Given the description of an element on the screen output the (x, y) to click on. 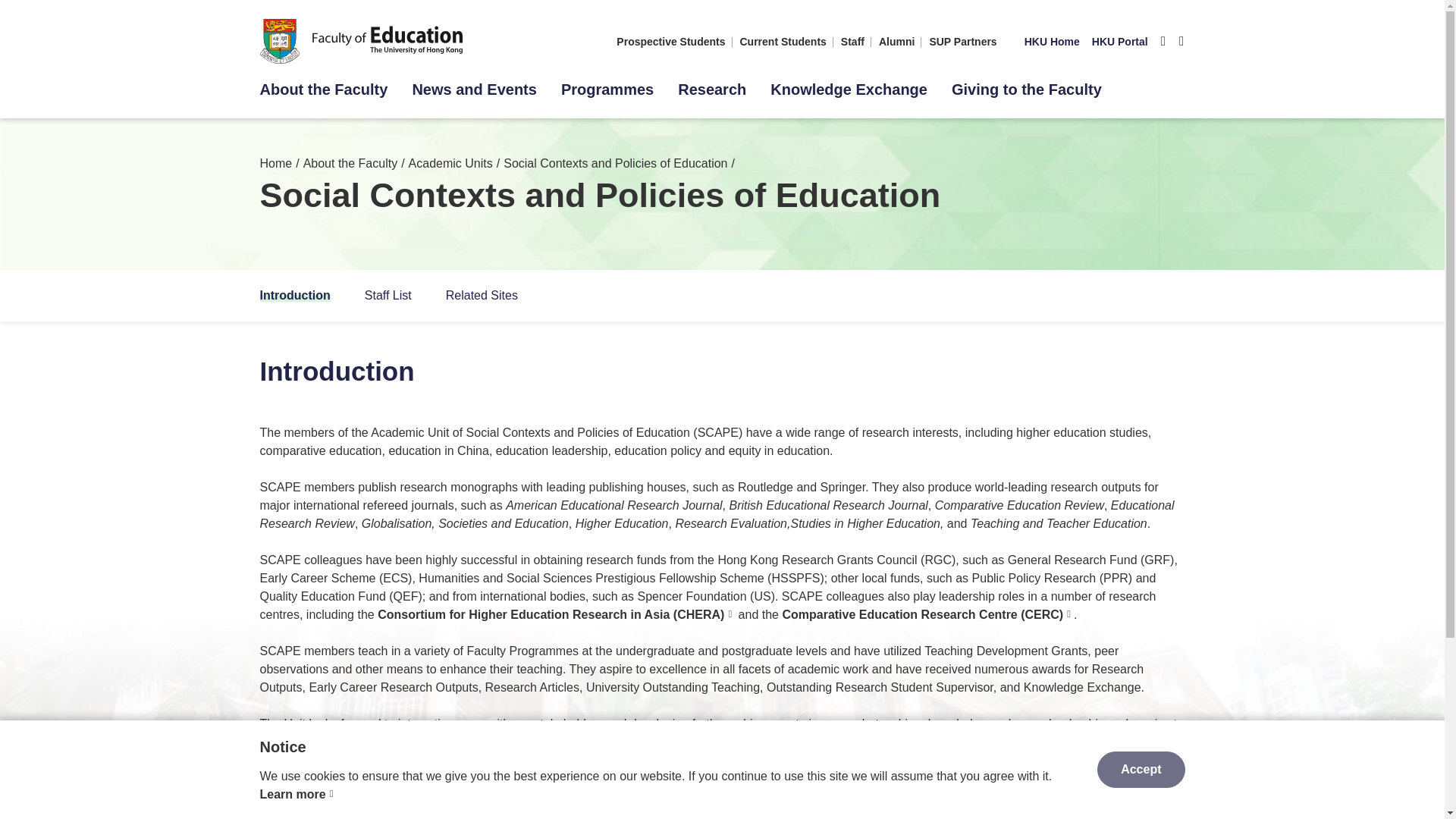
About the Faculty (323, 89)
Current Students (783, 40)
HKU Home (1052, 40)
HKU Portal (1120, 40)
Alumni (896, 40)
SUP Partners (961, 40)
Prospective Students (670, 40)
Staff (852, 40)
News and Events (474, 89)
